Given the description of an element on the screen output the (x, y) to click on. 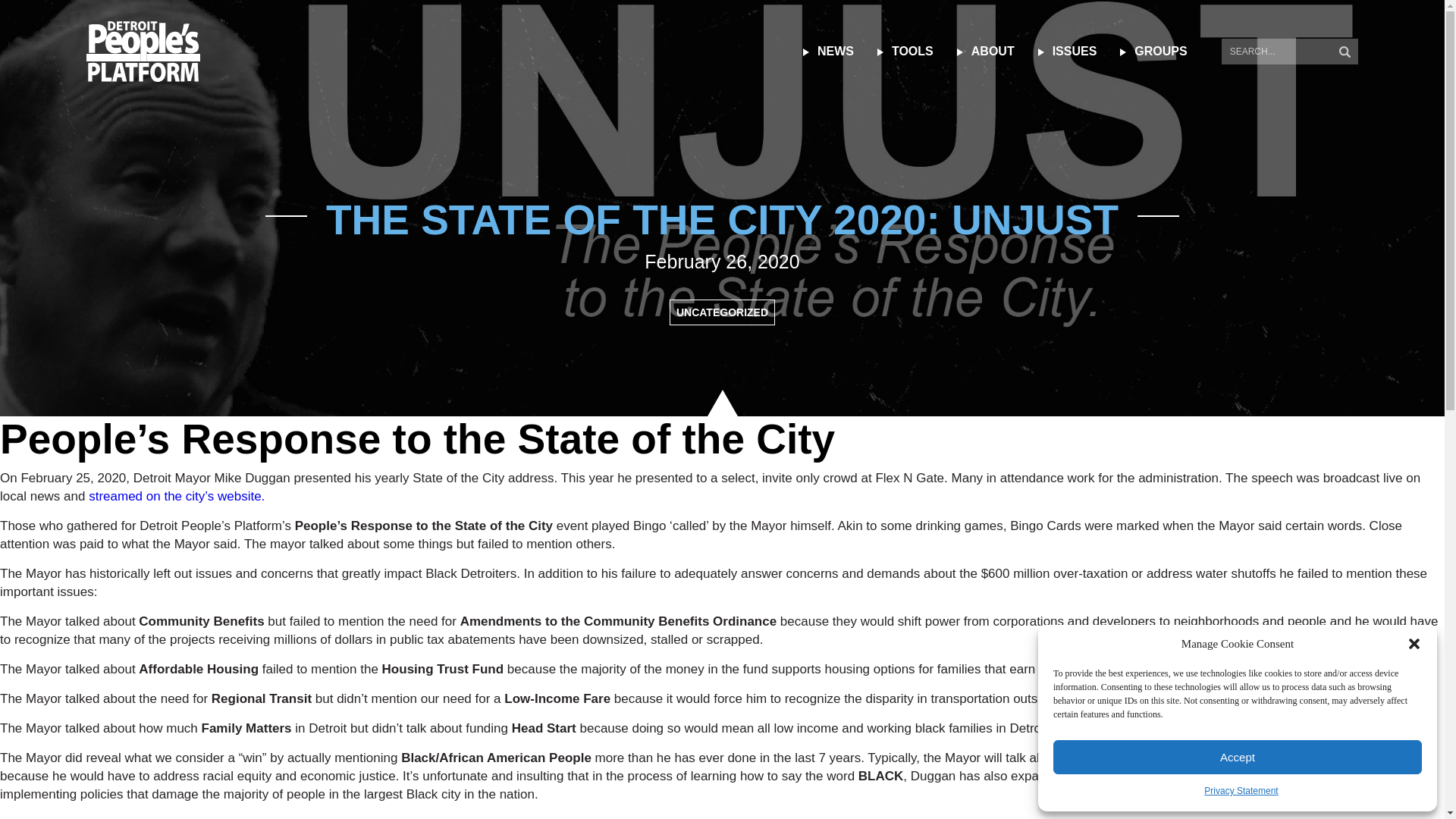
GROUPS (1160, 51)
NEWS (835, 51)
Privacy Statement (1241, 791)
ABOUT (992, 51)
ISSUES (1074, 51)
TOOLS (912, 51)
Accept (1237, 756)
UNCATEGORIZED (721, 312)
Navigate to Home (142, 51)
